Given the description of an element on the screen output the (x, y) to click on. 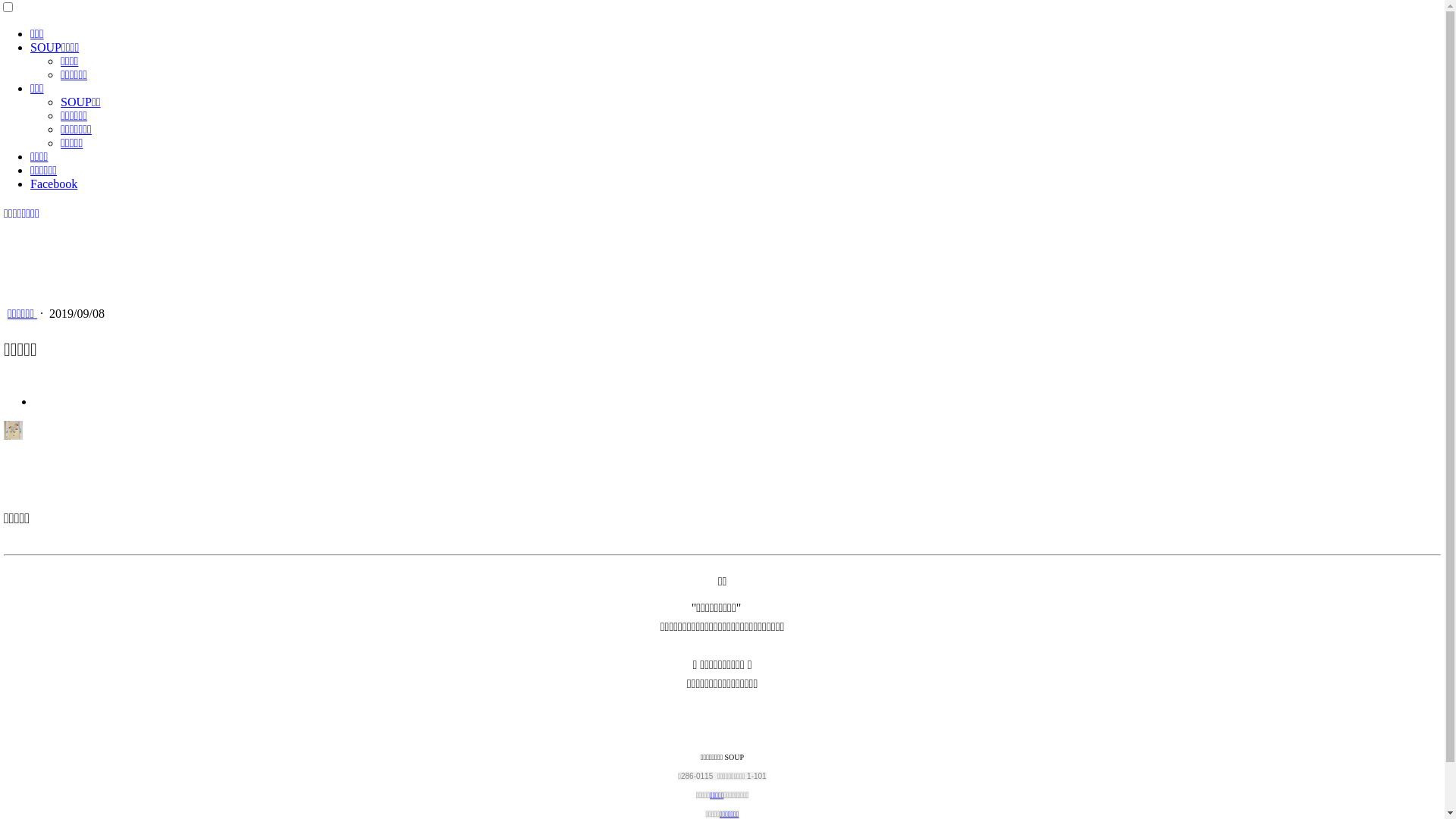
Facebook Element type: text (53, 183)
